Given the description of an element on the screen output the (x, y) to click on. 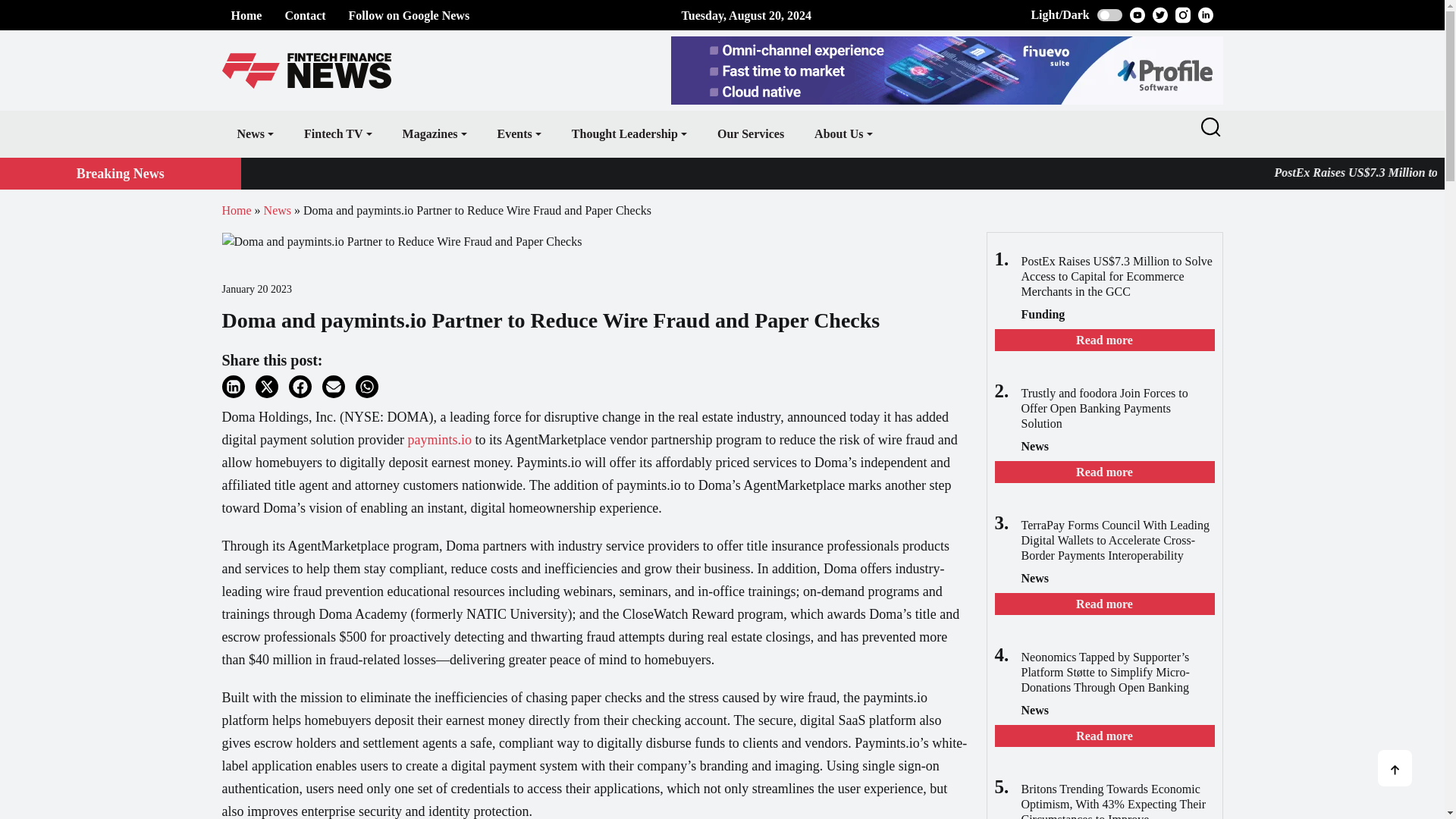
Home (246, 15)
Contact (303, 15)
Magazines (434, 134)
Fintech TV (337, 134)
Events (518, 134)
Follow on Google News (409, 15)
News (254, 134)
Fintech TV (337, 134)
